Given the description of an element on the screen output the (x, y) to click on. 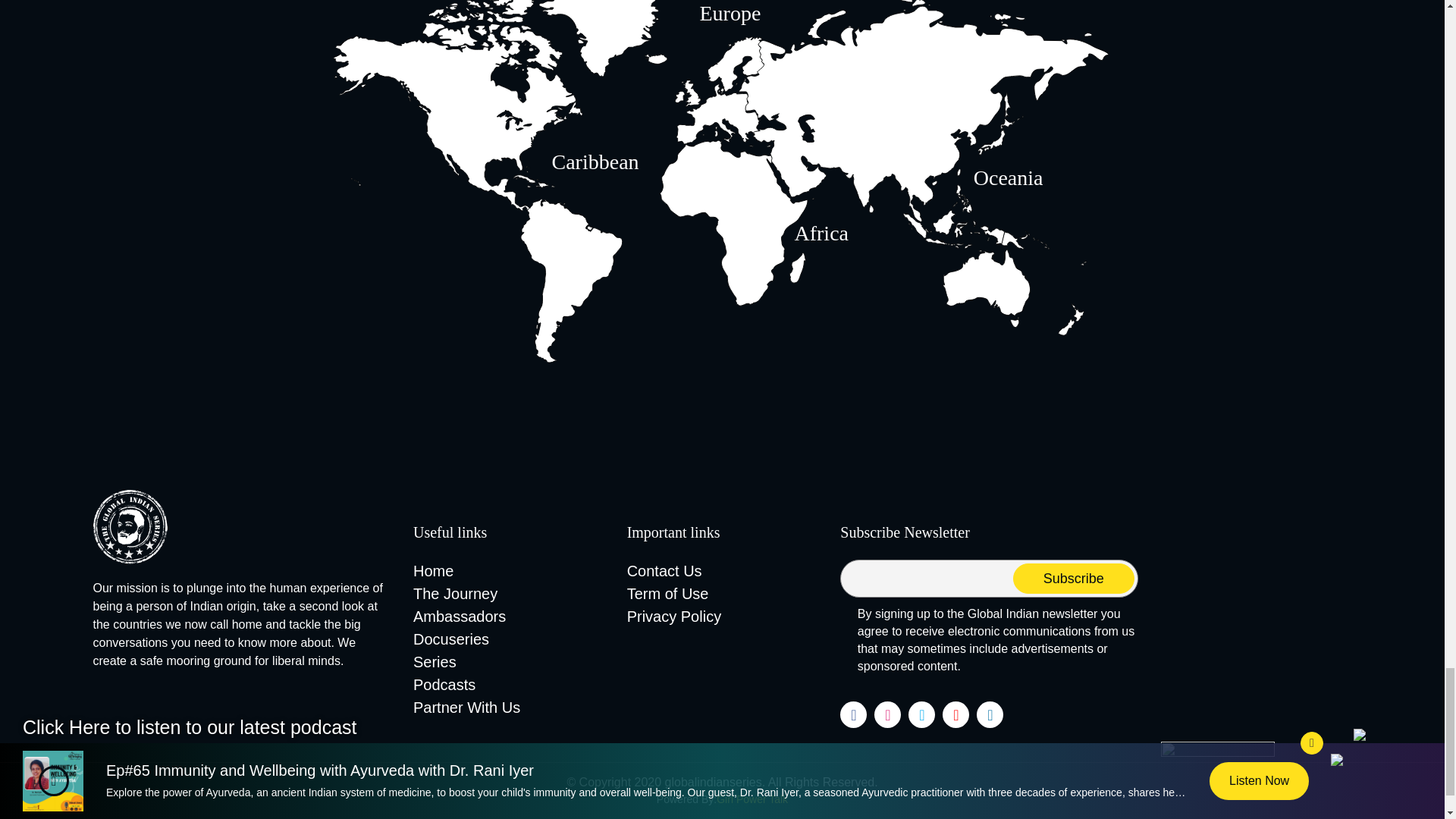
Subscribe (1073, 578)
